Given the description of an element on the screen output the (x, y) to click on. 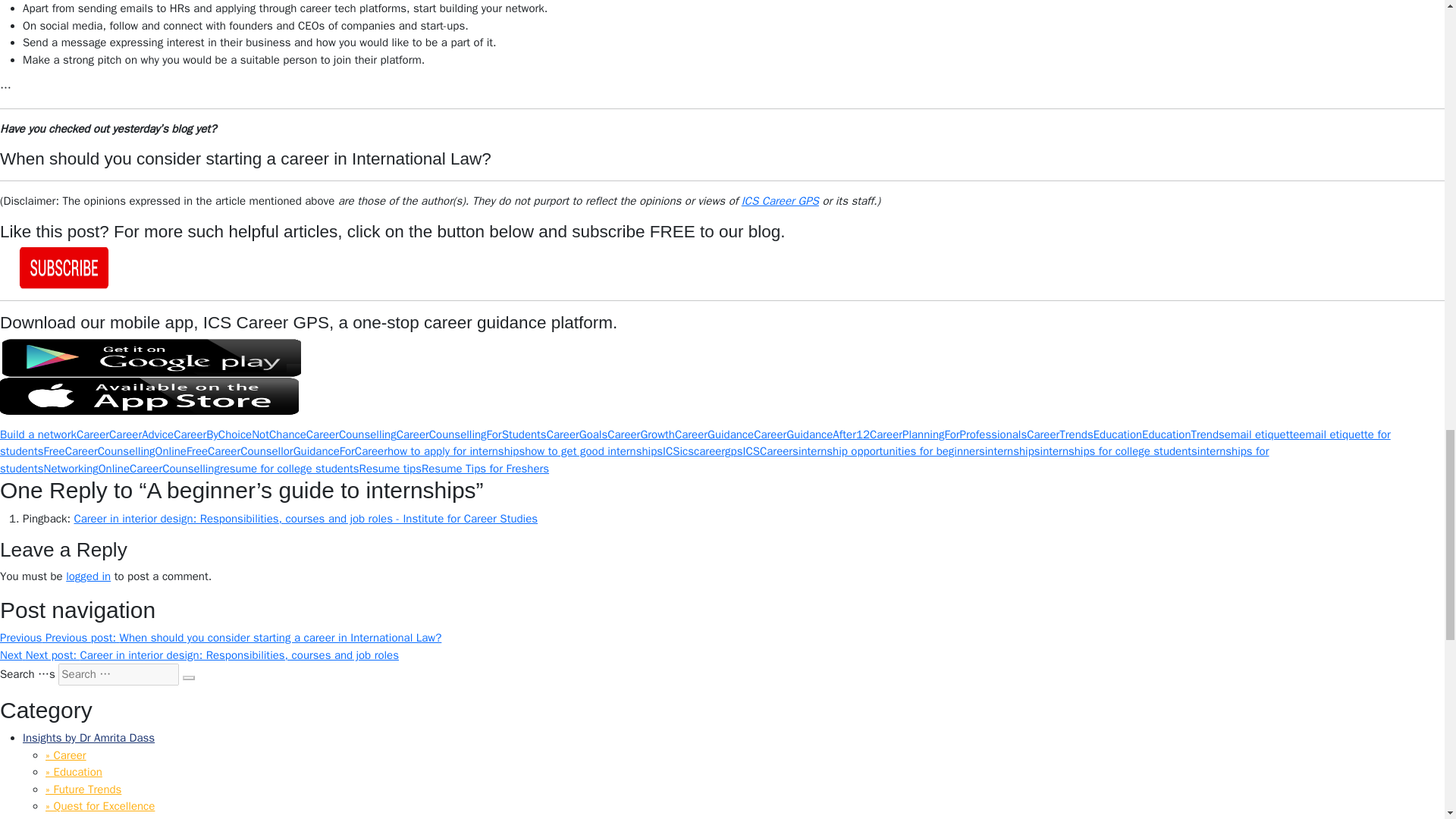
CareerGuidance (714, 434)
CareerTrends (1059, 434)
ICSCareers (769, 450)
CareerCounsellingForStudents (471, 434)
FreeCareerCounsellor (240, 450)
email etiquette (1262, 434)
CareerGoals (577, 434)
CareerPlanningForProfessionals (947, 434)
how to get good internships (593, 450)
CareerGrowth (641, 434)
EducationTrends (1182, 434)
ICS Career GPS (779, 201)
GuidanceForCareer (340, 450)
icscareergps (710, 450)
FreeCareerCounsellingOnline (114, 450)
